Given the description of an element on the screen output the (x, y) to click on. 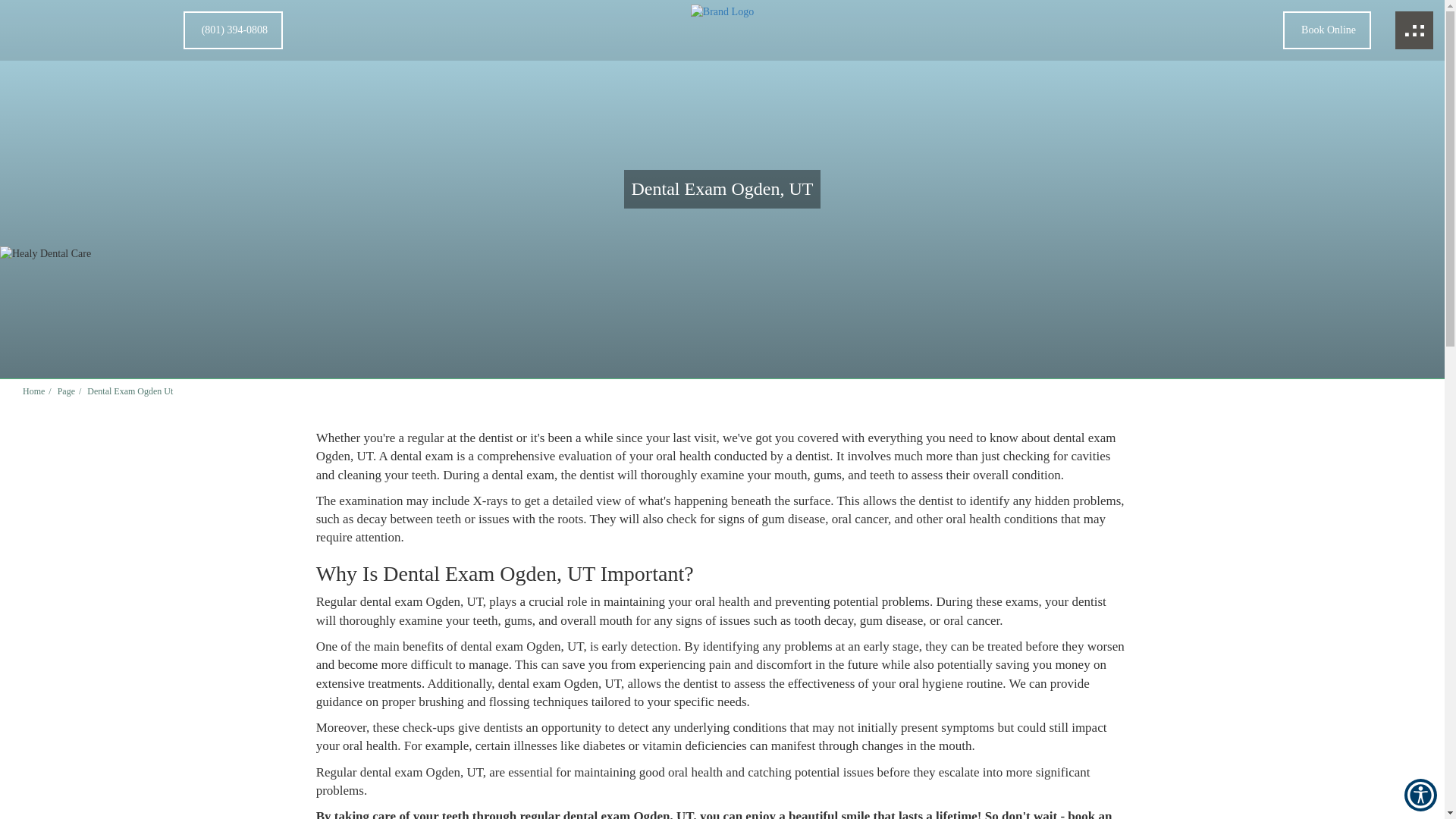
User way accessibility widget icon (1420, 795)
Home (34, 390)
Brand Logo (722, 30)
Book Online (1328, 11)
Page (66, 390)
